Given the description of an element on the screen output the (x, y) to click on. 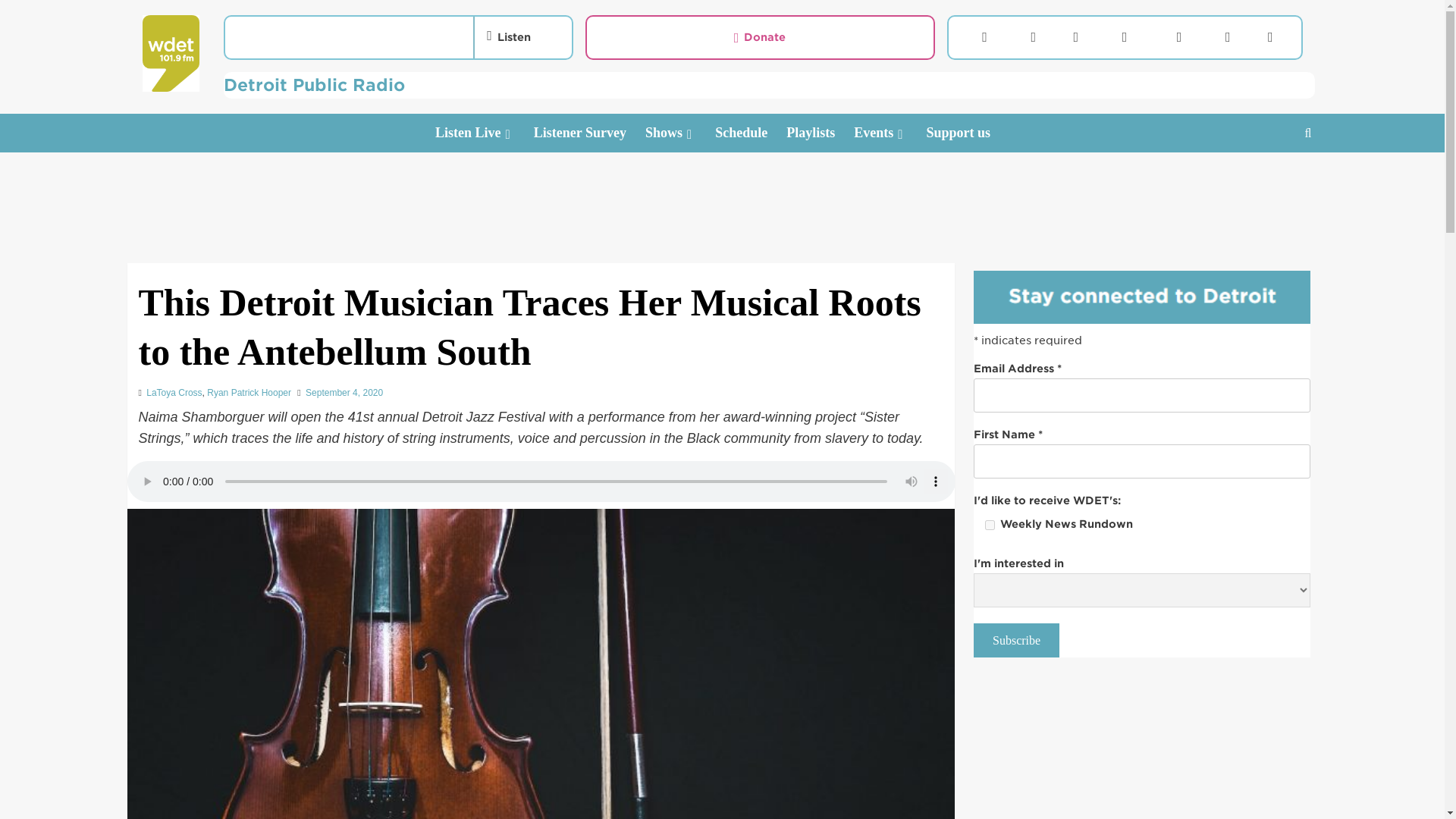
Playlists (819, 132)
Events (889, 132)
Listener Survey (589, 132)
Ryan Patrick Hooper (248, 392)
Search (1272, 179)
Ryan Patrick Hooper (248, 392)
LaToya Cross (174, 392)
3rd party ad content (721, 193)
Support us (967, 132)
Listen Live (484, 132)
3rd party ad content (1142, 751)
LaToya Cross (174, 392)
Donate (759, 37)
Shows (679, 132)
Schedule (750, 132)
